Given the description of an element on the screen output the (x, y) to click on. 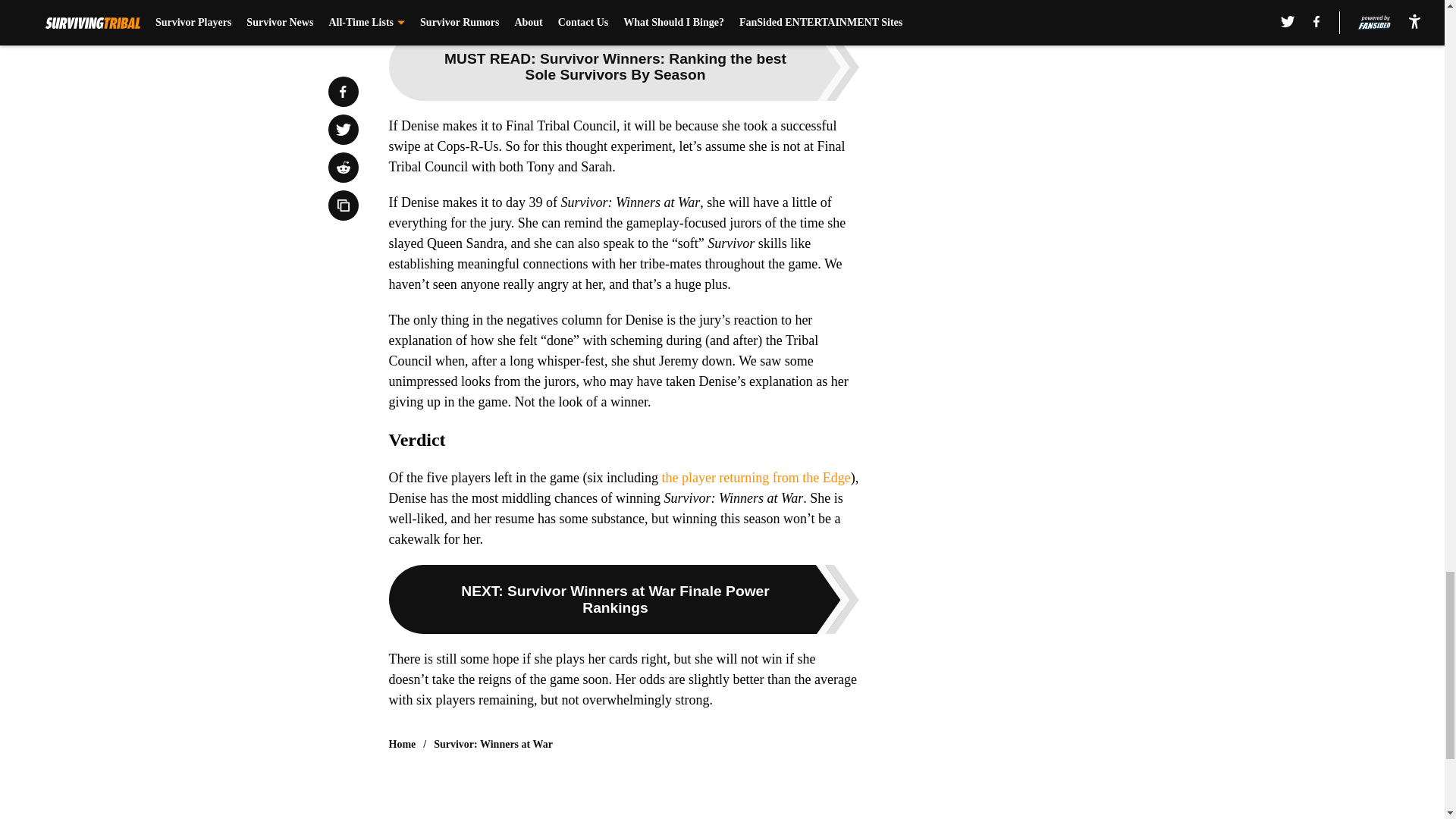
NEXT: Survivor Winners at War Finale Power Rankings (623, 599)
Home (401, 744)
the player returning from the Edge (755, 477)
Survivor: Winners at War (493, 744)
